Given the description of an element on the screen output the (x, y) to click on. 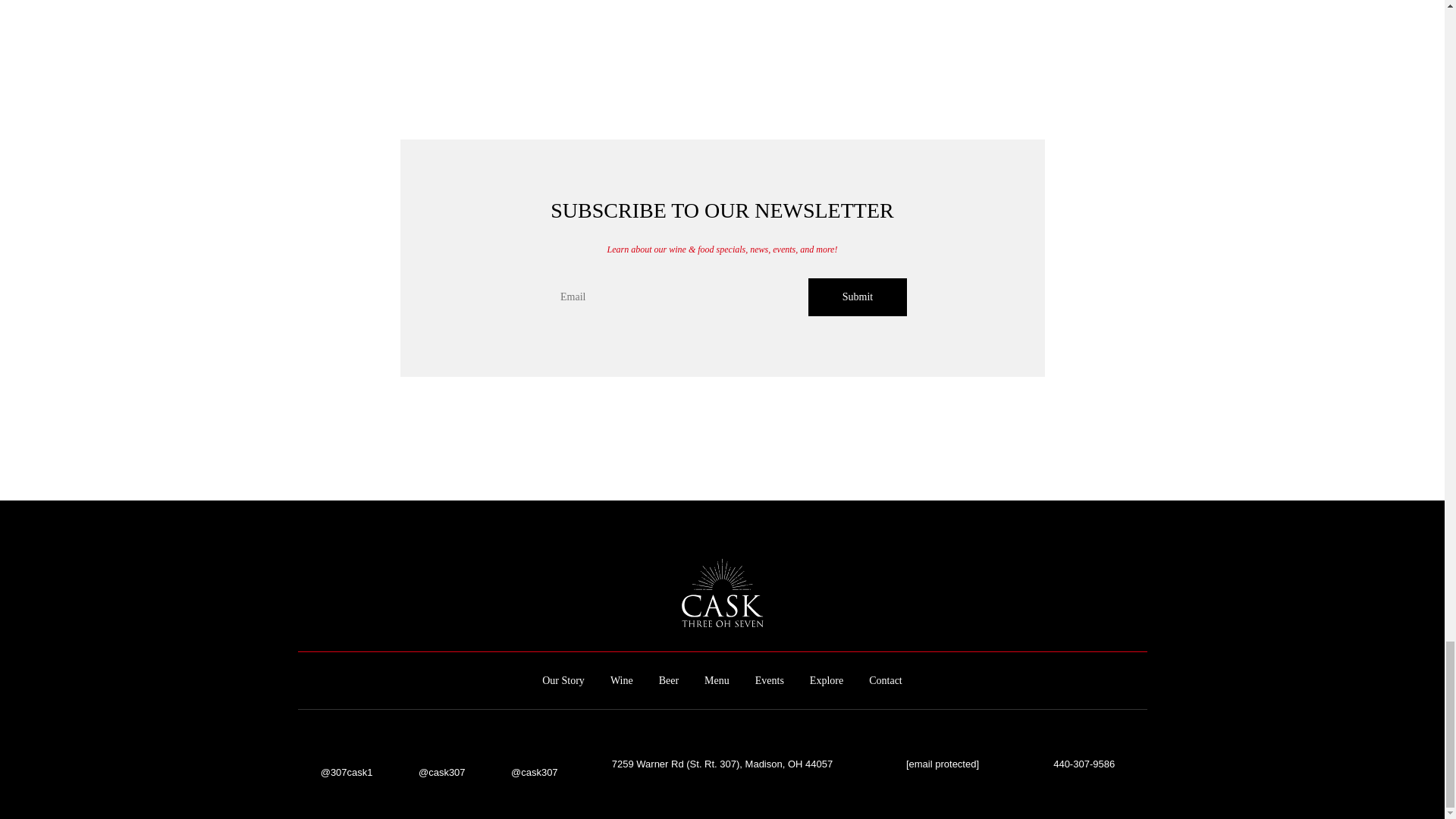
Menu (716, 680)
440-307-9586 (1076, 764)
Submit (857, 296)
Events (769, 680)
Explore (826, 680)
Wine (621, 680)
Contact (885, 680)
Beer (668, 680)
Our Story (563, 680)
